Given the description of an element on the screen output the (x, y) to click on. 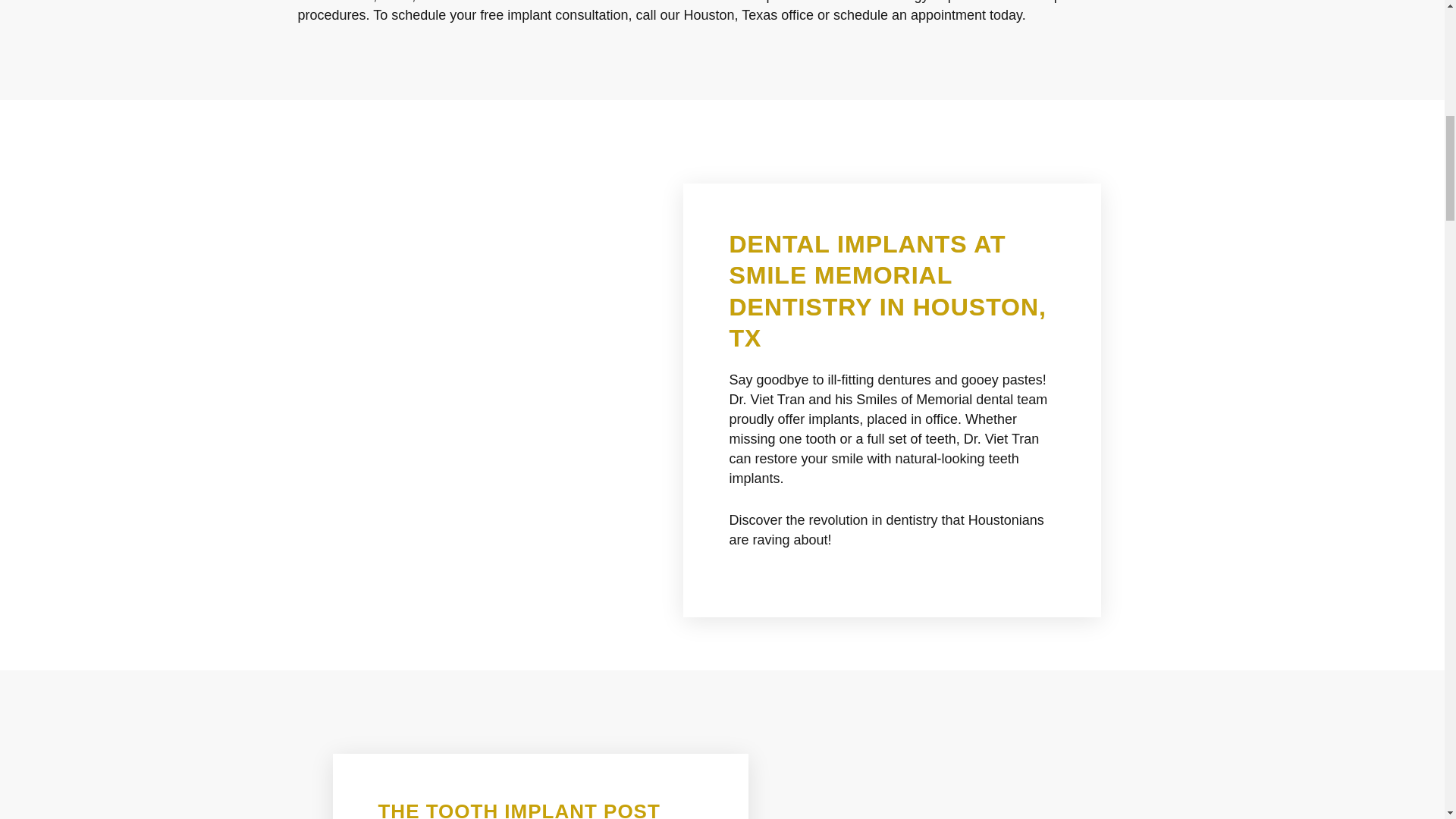
APPLY FOR FINANCING (834, 48)
281-493-0061 (618, 49)
REQUEST AN APPOINTMENT (1051, 49)
